Given the description of an element on the screen output the (x, y) to click on. 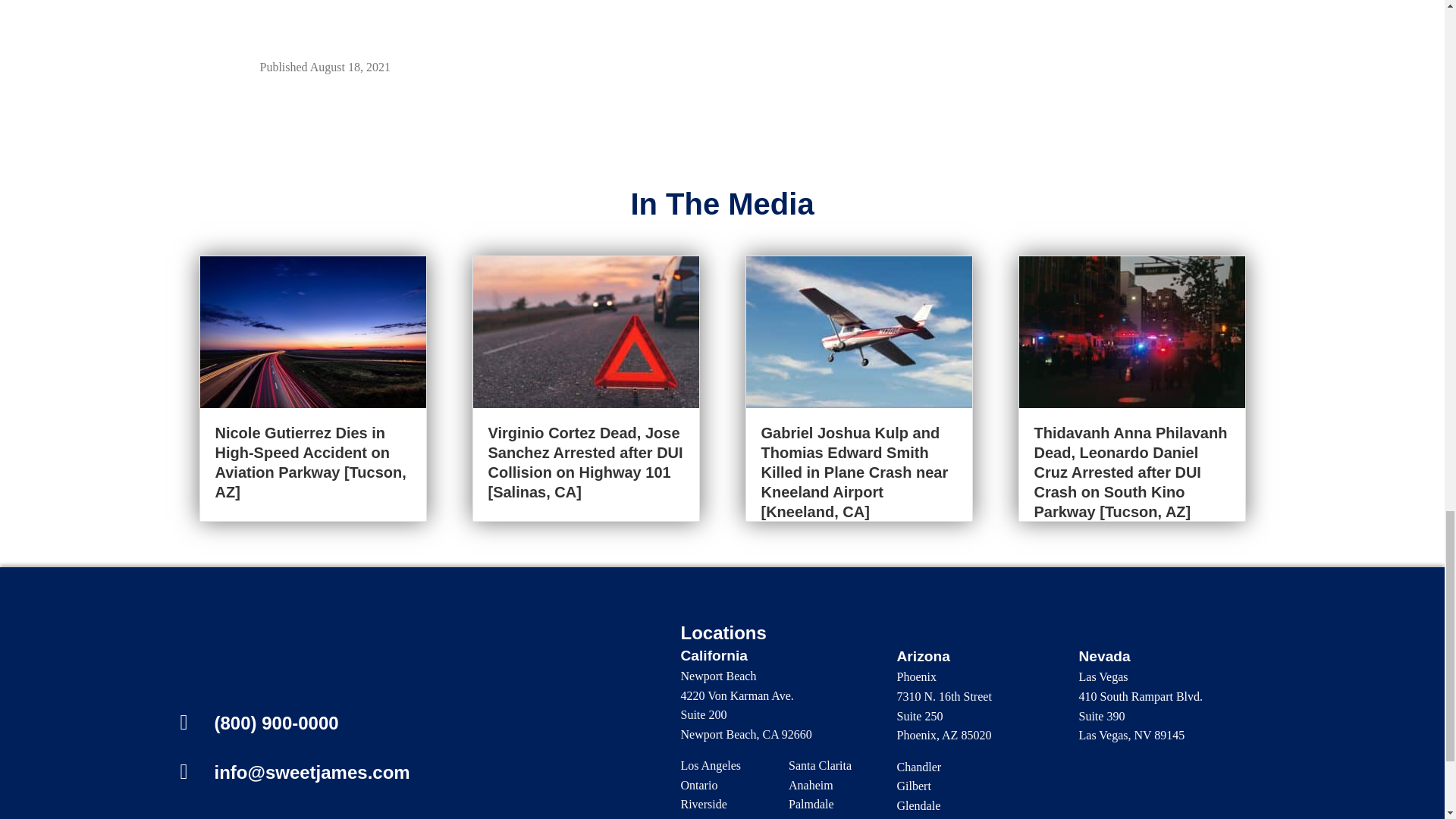
Los Angeles (711, 765)
Phoenix (916, 676)
Las Vegas (1102, 676)
San Francisco (715, 818)
Newport Beach (719, 675)
